Given the description of an element on the screen output the (x, y) to click on. 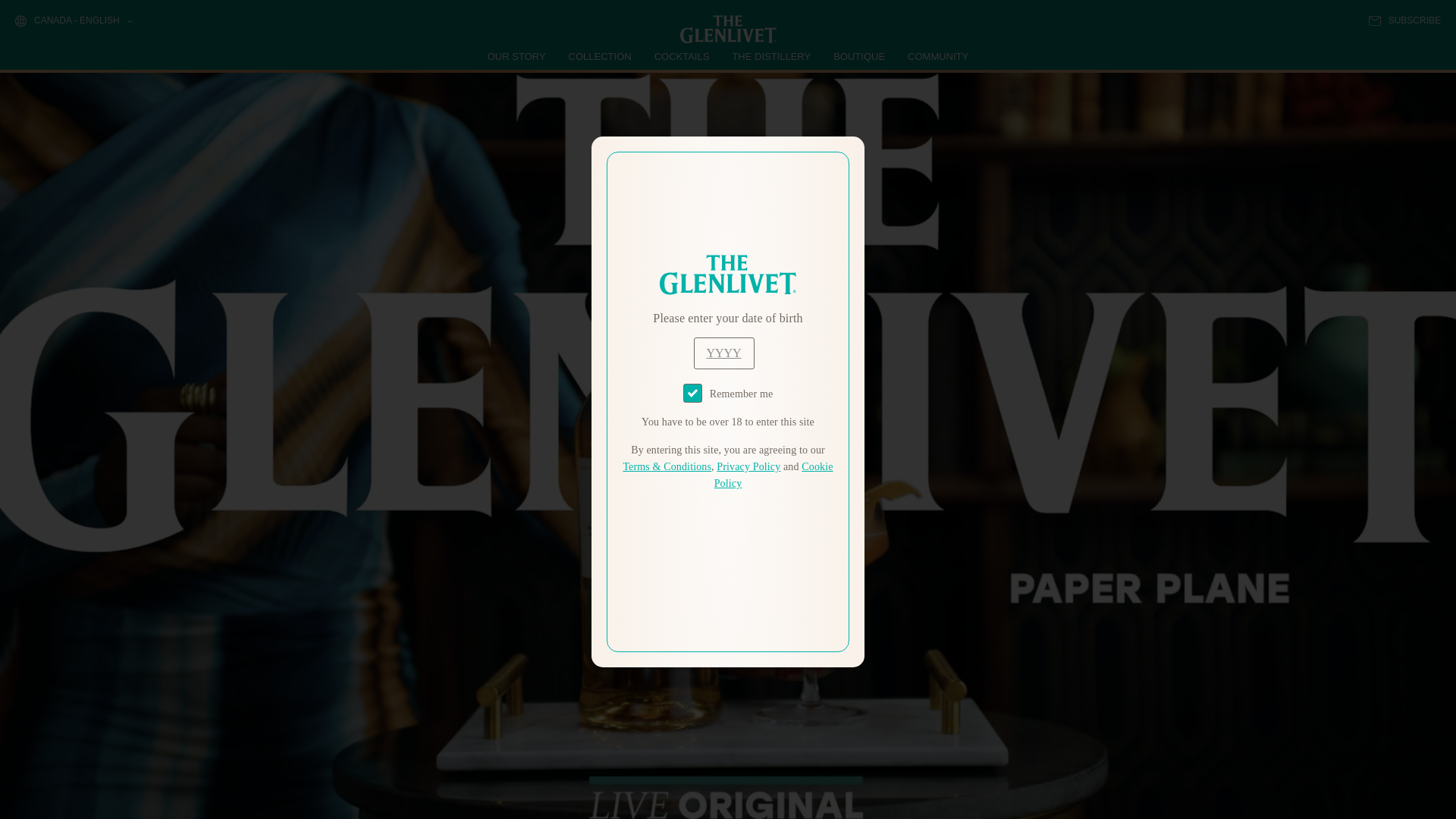
BOUTIQUE (858, 56)
CANADA - ENGLISH (73, 21)
THE DISTILLERY (771, 56)
Privacy Policy (748, 466)
COLLECTION (600, 56)
COMMUNITY (937, 56)
SUBSCRIBE (1404, 20)
COCKTAILS (681, 56)
OUR STORY (516, 56)
year (723, 353)
Cookie Policy (773, 474)
